Given the description of an element on the screen output the (x, y) to click on. 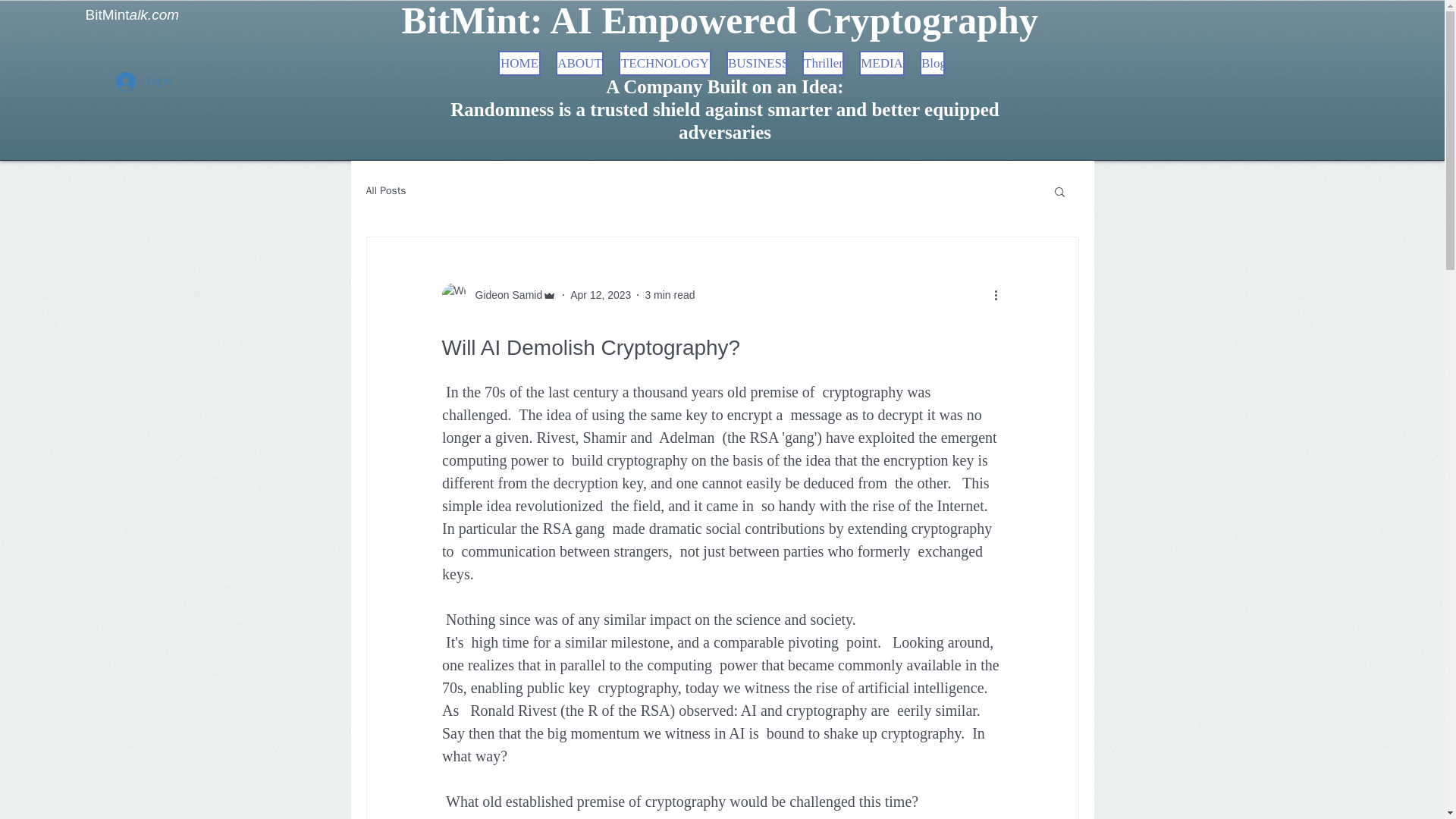
BUSINESS (756, 63)
Gideon Samid (498, 294)
TECHNOLOGY (664, 63)
Blog (932, 63)
BitMintalk.com (131, 14)
MEDIA (881, 63)
HOME (518, 63)
All Posts (385, 191)
Log In (143, 81)
Gideon Samid (503, 294)
